Given the description of an element on the screen output the (x, y) to click on. 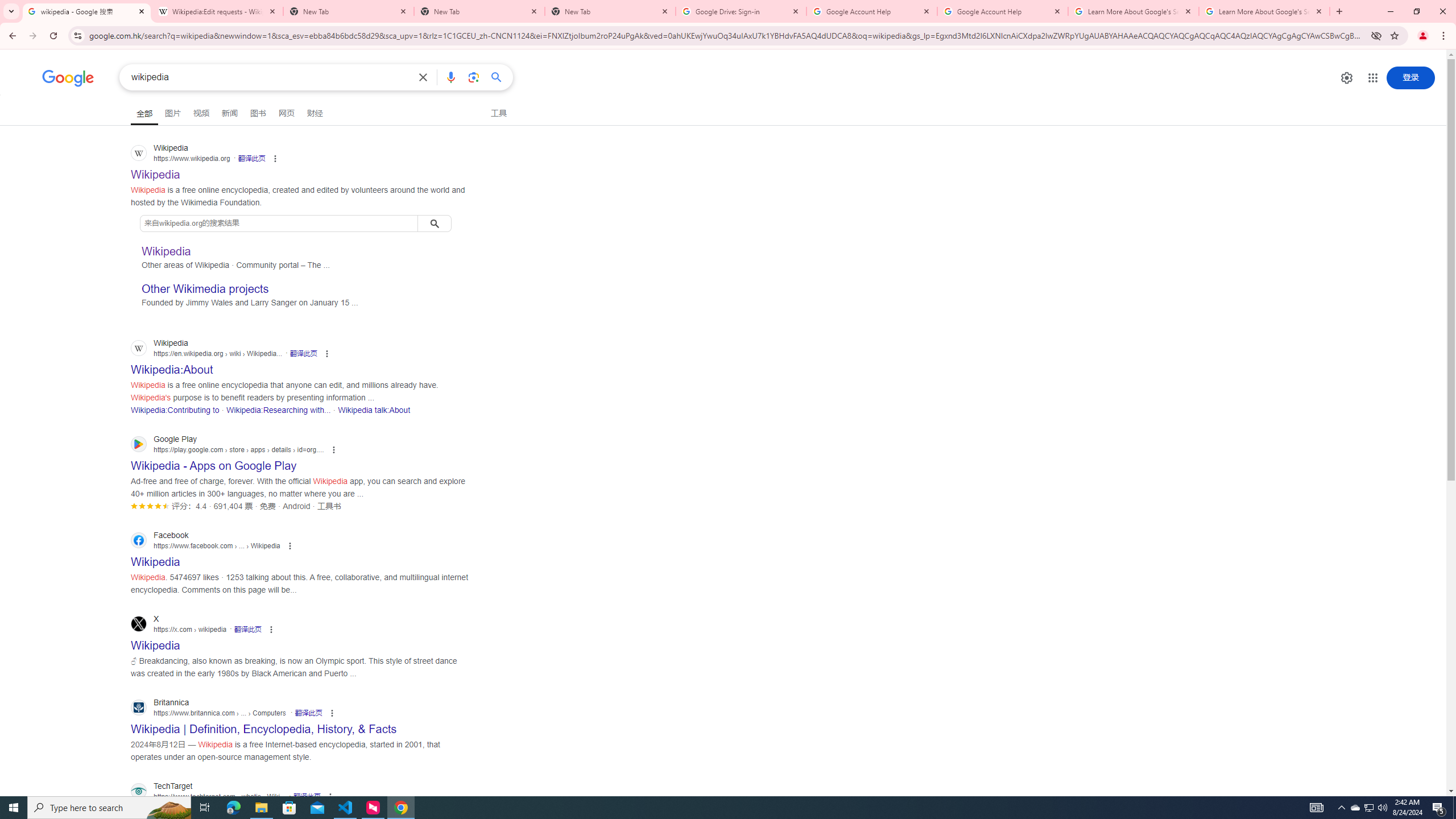
Google Drive: Sign-in (740, 11)
Other Wikimedia projects (205, 288)
System (6, 6)
Forward (32, 35)
Wikipedia:Edit requests - Wikipedia (217, 11)
Back (10, 35)
Wikipedia:Researching with... (277, 410)
Wikipedia talk:About (373, 410)
New Tab (1338, 11)
